Given the description of an element on the screen output the (x, y) to click on. 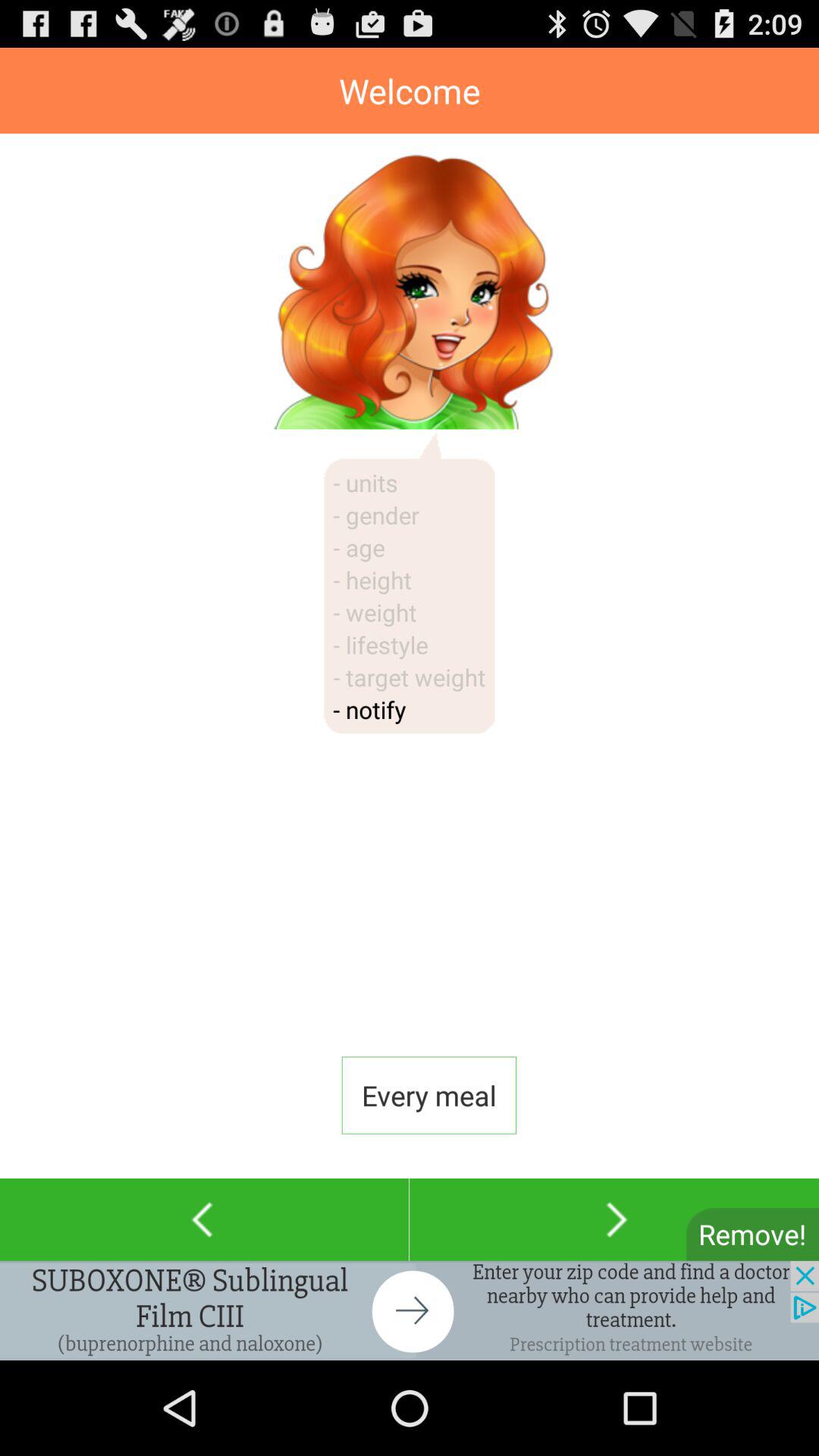
go to next page (614, 1219)
